Given the description of an element on the screen output the (x, y) to click on. 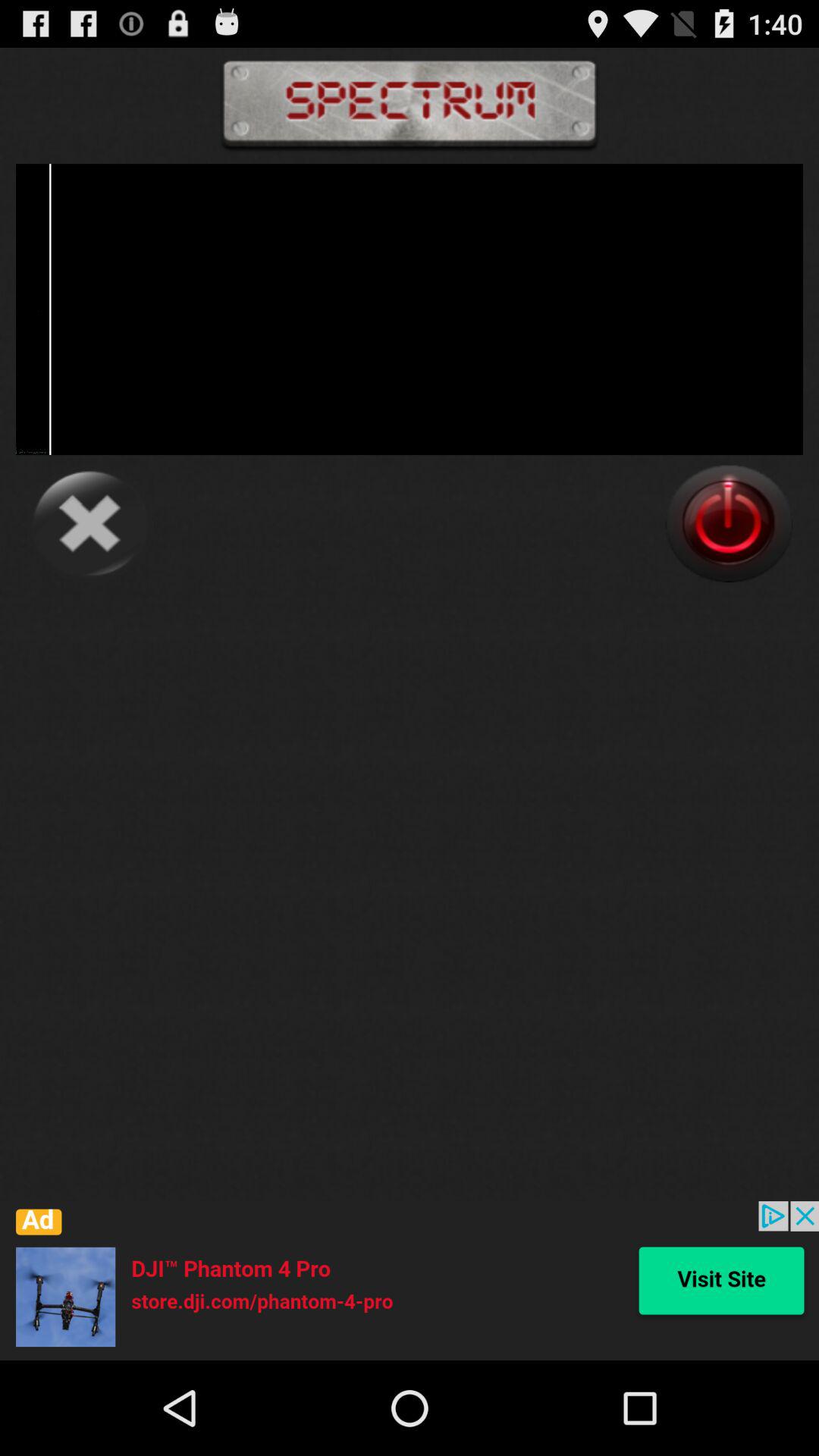
on/off button (728, 523)
